Given the description of an element on the screen output the (x, y) to click on. 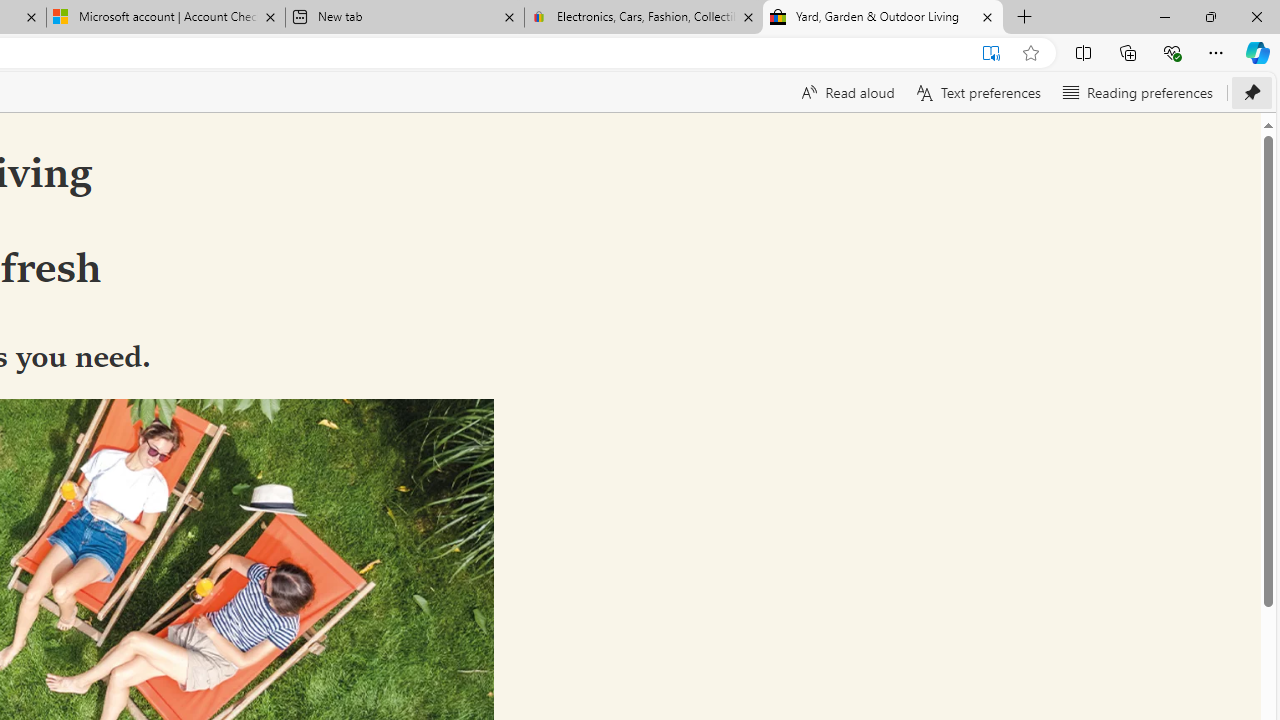
Yard, Garden & Outdoor Living (883, 17)
Exit Immersive Reader (F9) (991, 53)
Reading preferences (1136, 92)
Electronics, Cars, Fashion, Collectibles & More | eBay (643, 17)
Microsoft account | Account Checkup (166, 17)
Unpin toolbar (1252, 92)
Read aloud (846, 92)
